Given the description of an element on the screen output the (x, y) to click on. 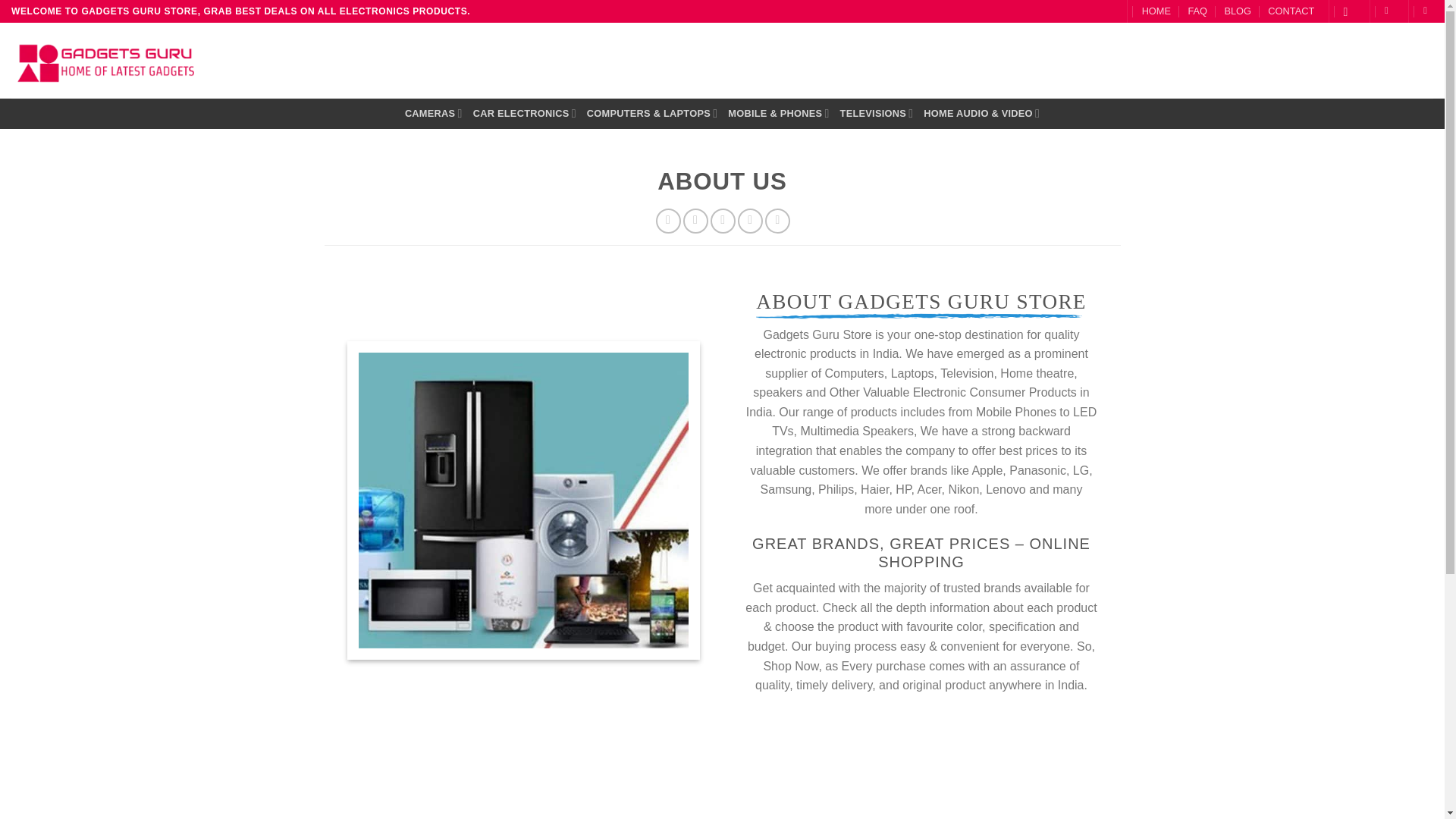
CONTACT (1291, 11)
Gadgets Guru - Home Of Latest Gadgets (105, 60)
CAR ELECTRONICS (524, 112)
BLOG (1237, 11)
Share on LinkedIn (777, 220)
Share on Facebook (668, 220)
Share on Twitter (694, 220)
HOME (1155, 11)
Email to a Friend (722, 220)
CAMERAS (433, 112)
Pin on Pinterest (750, 220)
